Given the description of an element on the screen output the (x, y) to click on. 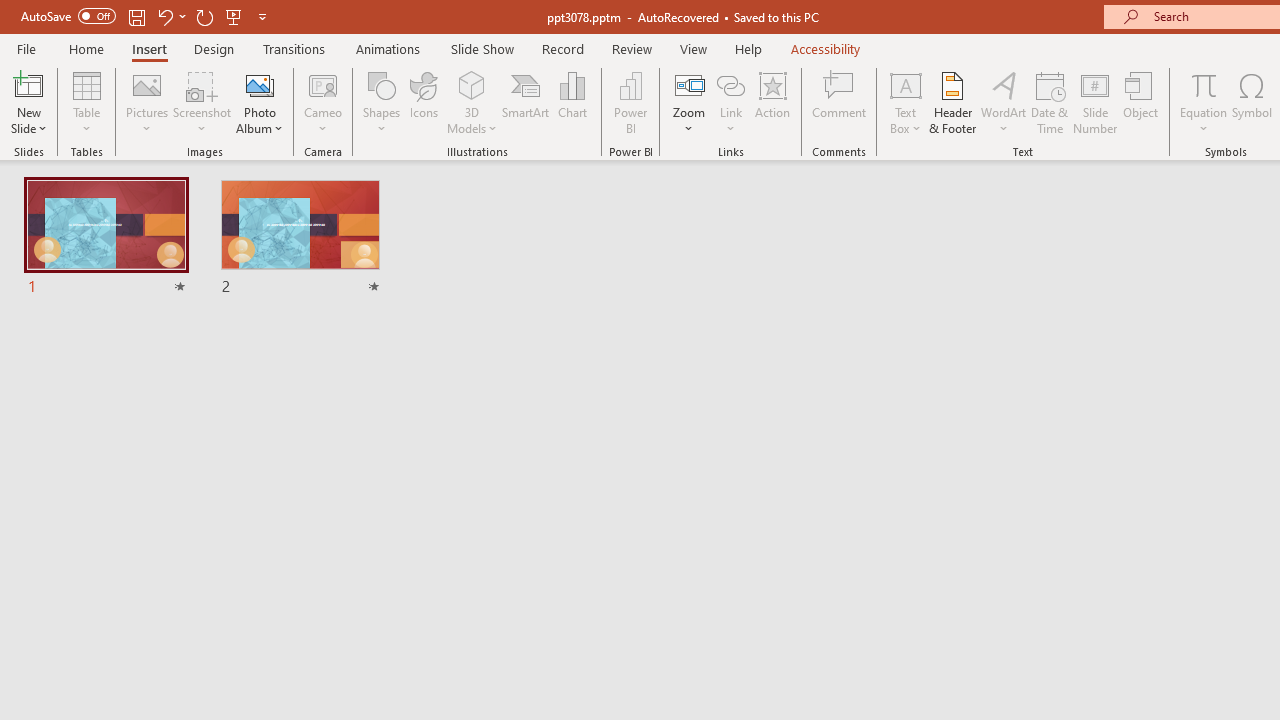
Pictures (147, 102)
Equation (1203, 84)
Equation (1203, 102)
Photo Album... (259, 102)
